Given the description of an element on the screen output the (x, y) to click on. 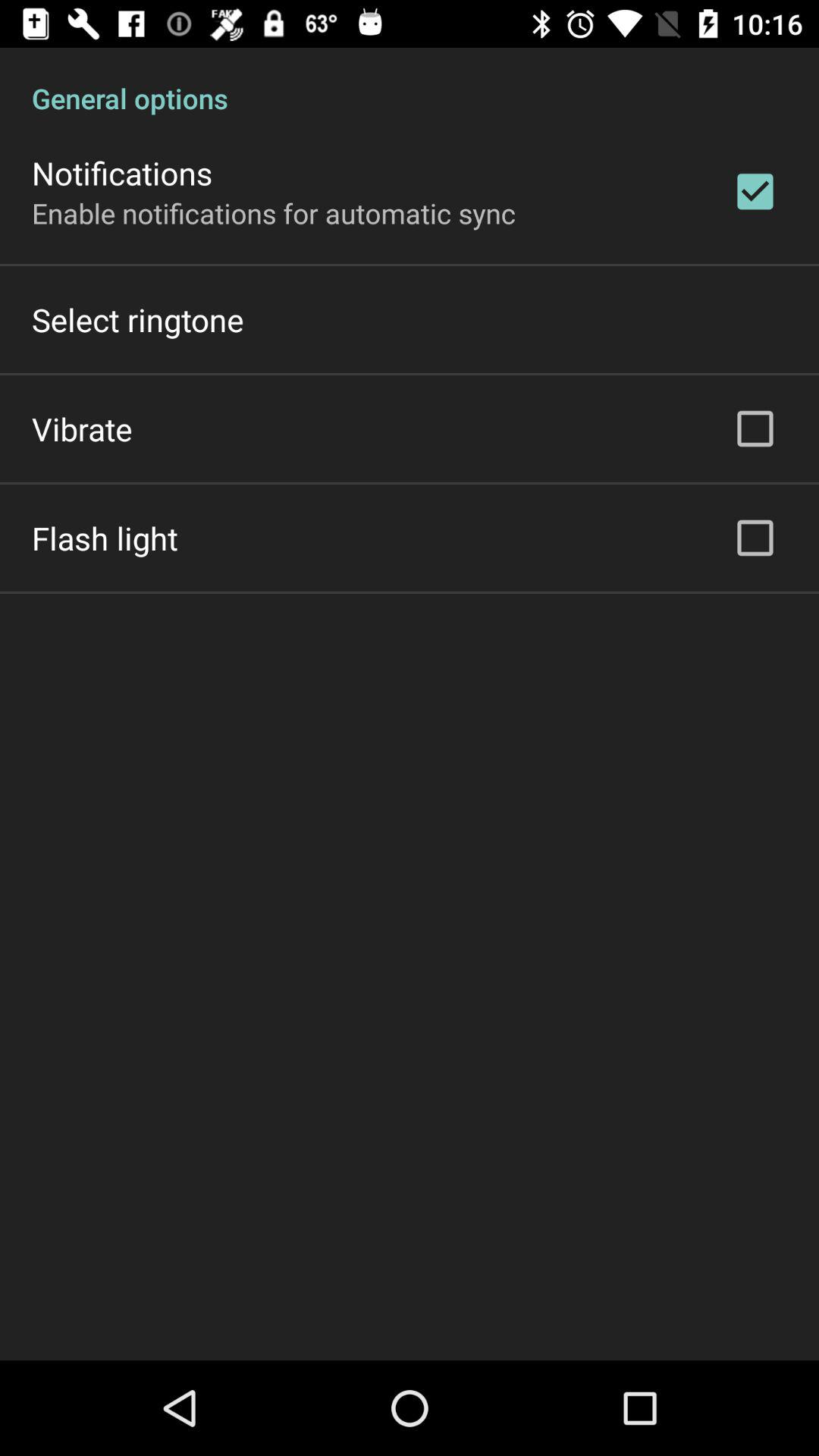
launch flash light item (104, 537)
